Given the description of an element on the screen output the (x, y) to click on. 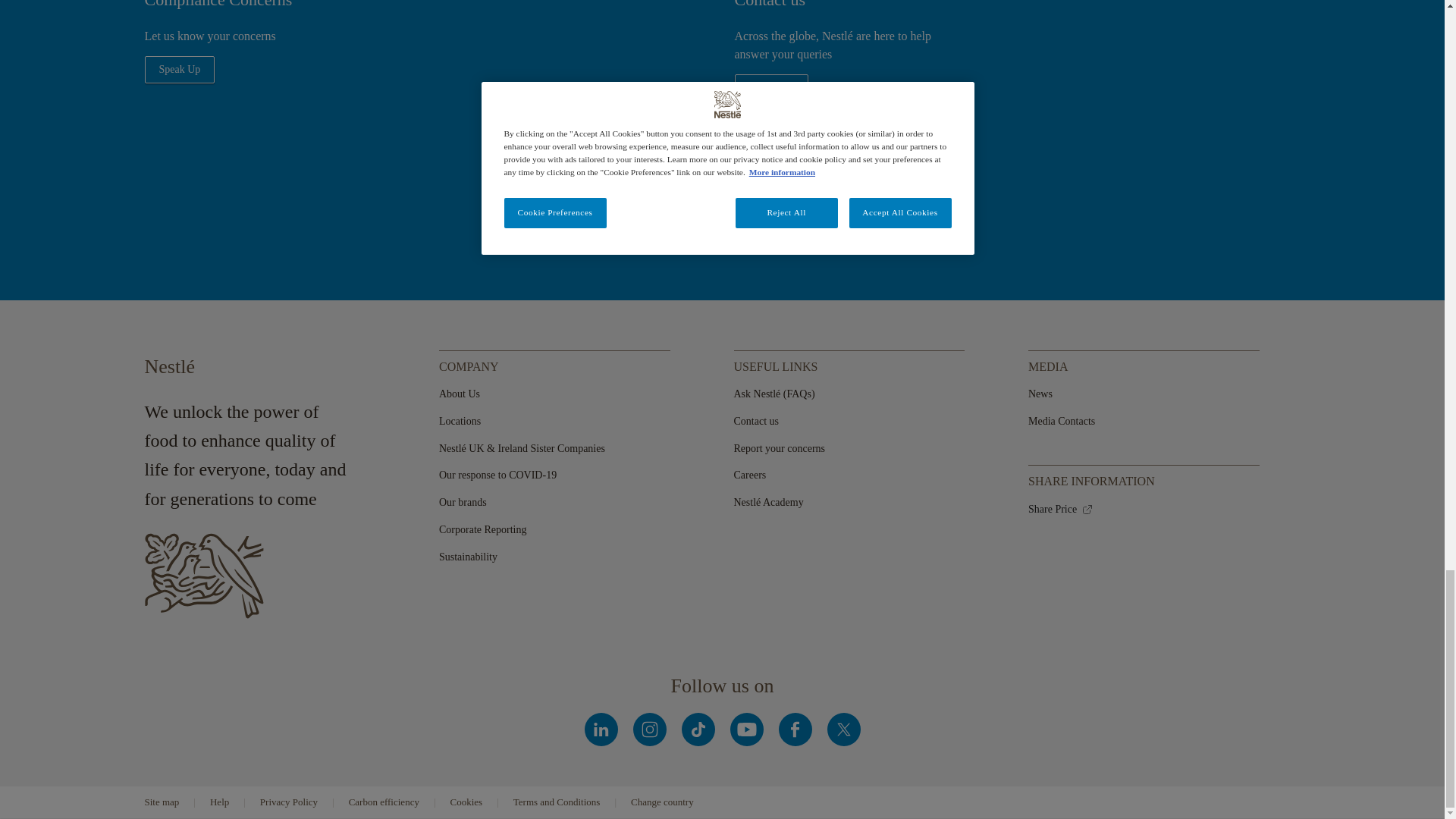
nest-logo (203, 576)
